Given the description of an element on the screen output the (x, y) to click on. 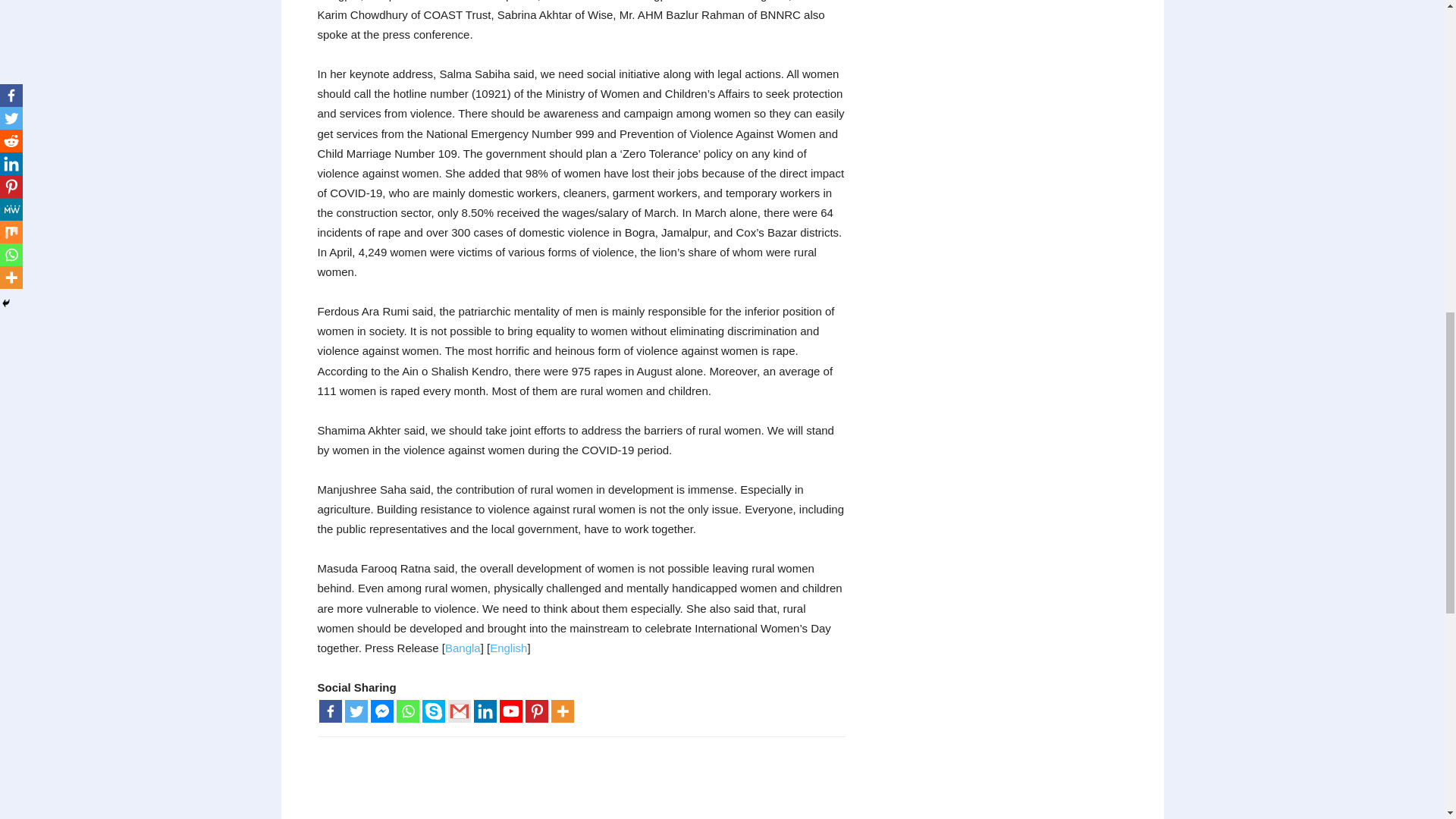
Google Gmail (458, 711)
Linkedin (484, 711)
Skype (433, 711)
Twitter (354, 711)
Whatsapp (407, 711)
Facebook (329, 711)
Youtube (510, 711)
